Given the description of an element on the screen output the (x, y) to click on. 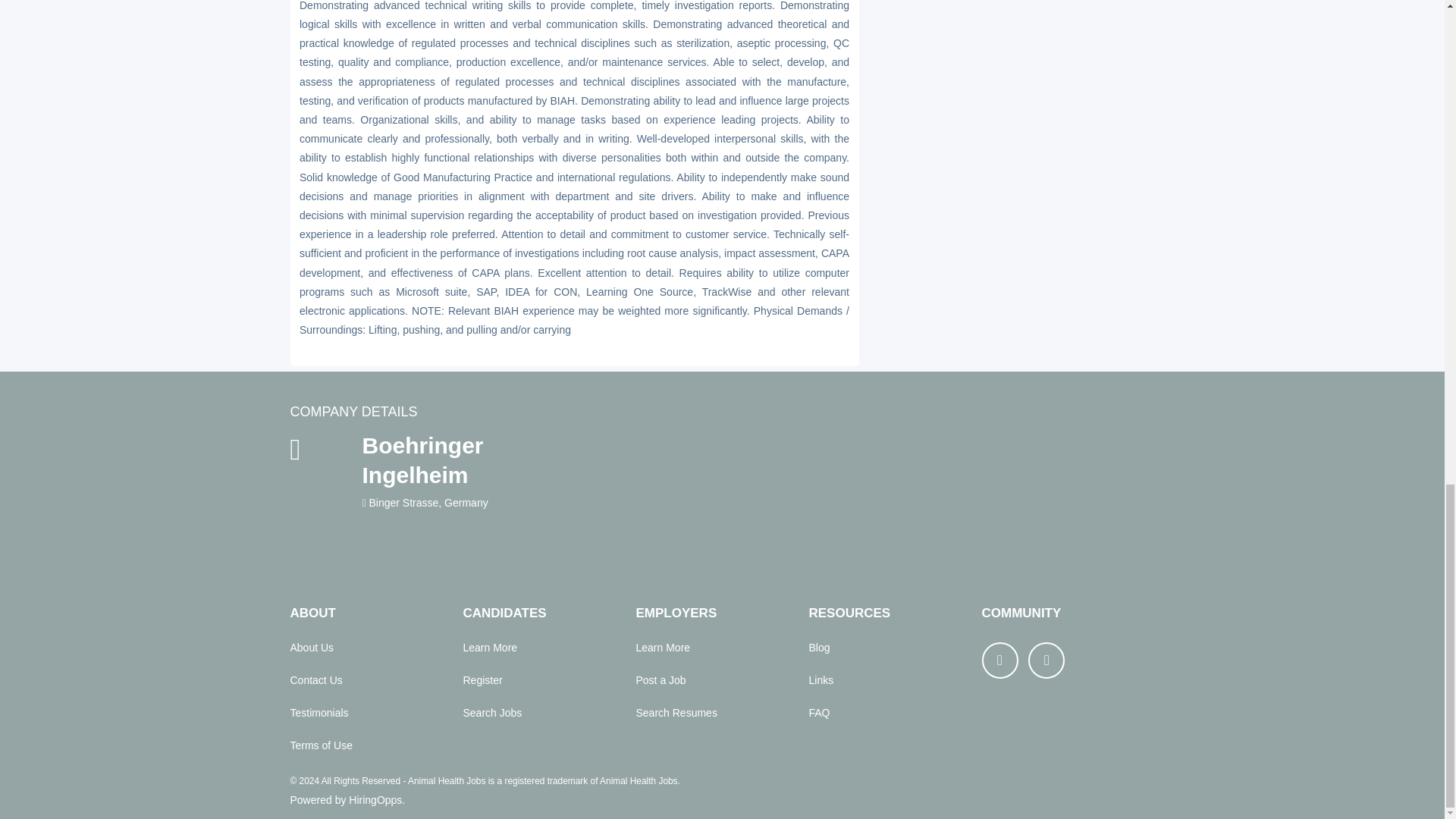
Search Jobs (492, 712)
HiringOpps (375, 800)
FAQ (818, 712)
Terms of Use (320, 745)
Learn More (662, 647)
Post a Job (659, 680)
About Us (311, 647)
Contact Us (315, 680)
Blog (818, 647)
Learn More (489, 647)
Links (820, 680)
Boehringer Ingelheim (469, 459)
Register (482, 680)
Search Resumes (675, 712)
Testimonials (318, 712)
